Given the description of an element on the screen output the (x, y) to click on. 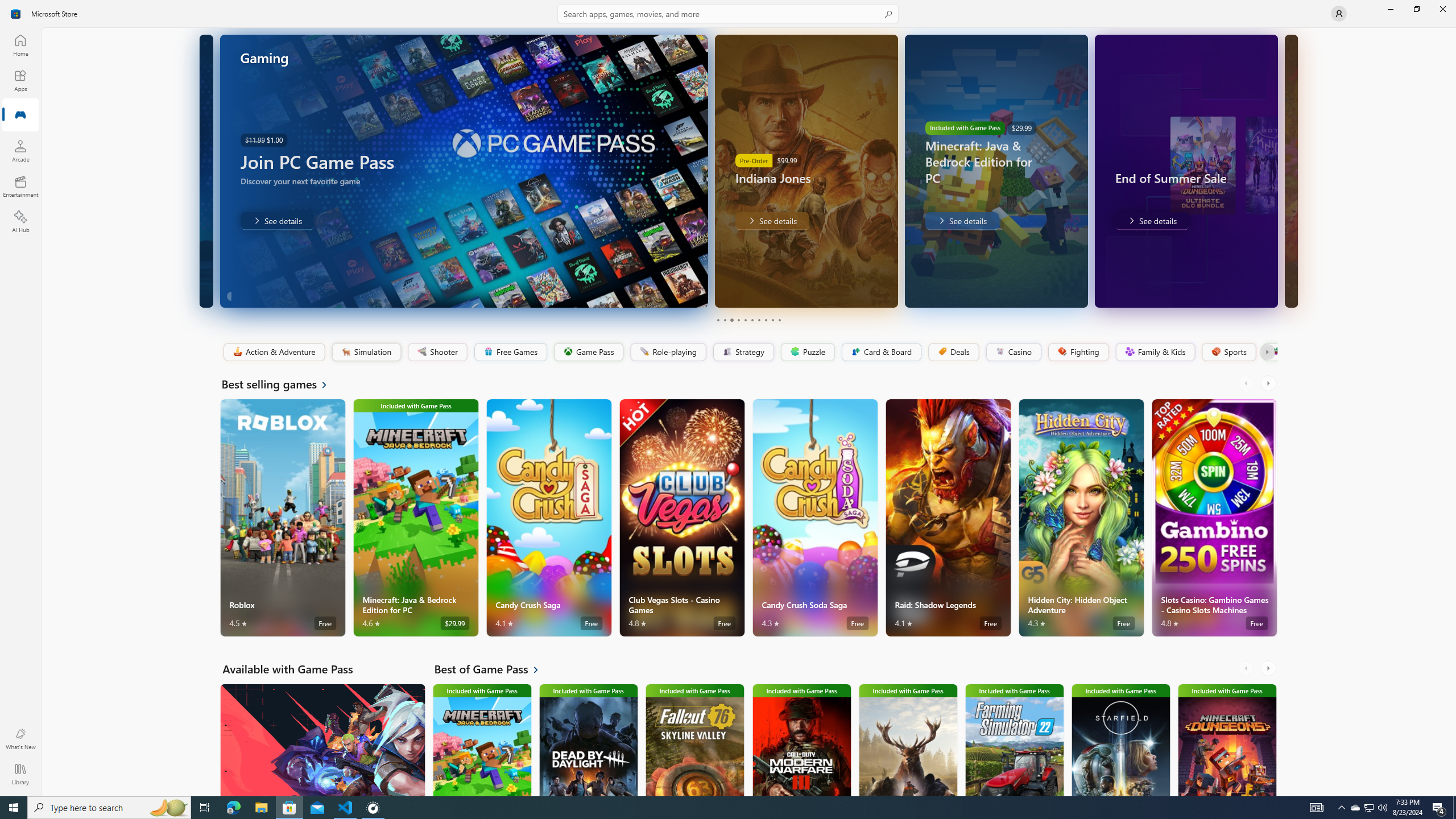
Casino (1013, 352)
Fighting (1078, 352)
Game Pass (588, 352)
AutomationID: RightScrollButton (1269, 668)
Free Games (509, 352)
Sports (1228, 352)
Card & Board (880, 352)
Page 8 (764, 319)
AutomationID: LeftScrollButton (1246, 668)
